Given the description of an element on the screen output the (x, y) to click on. 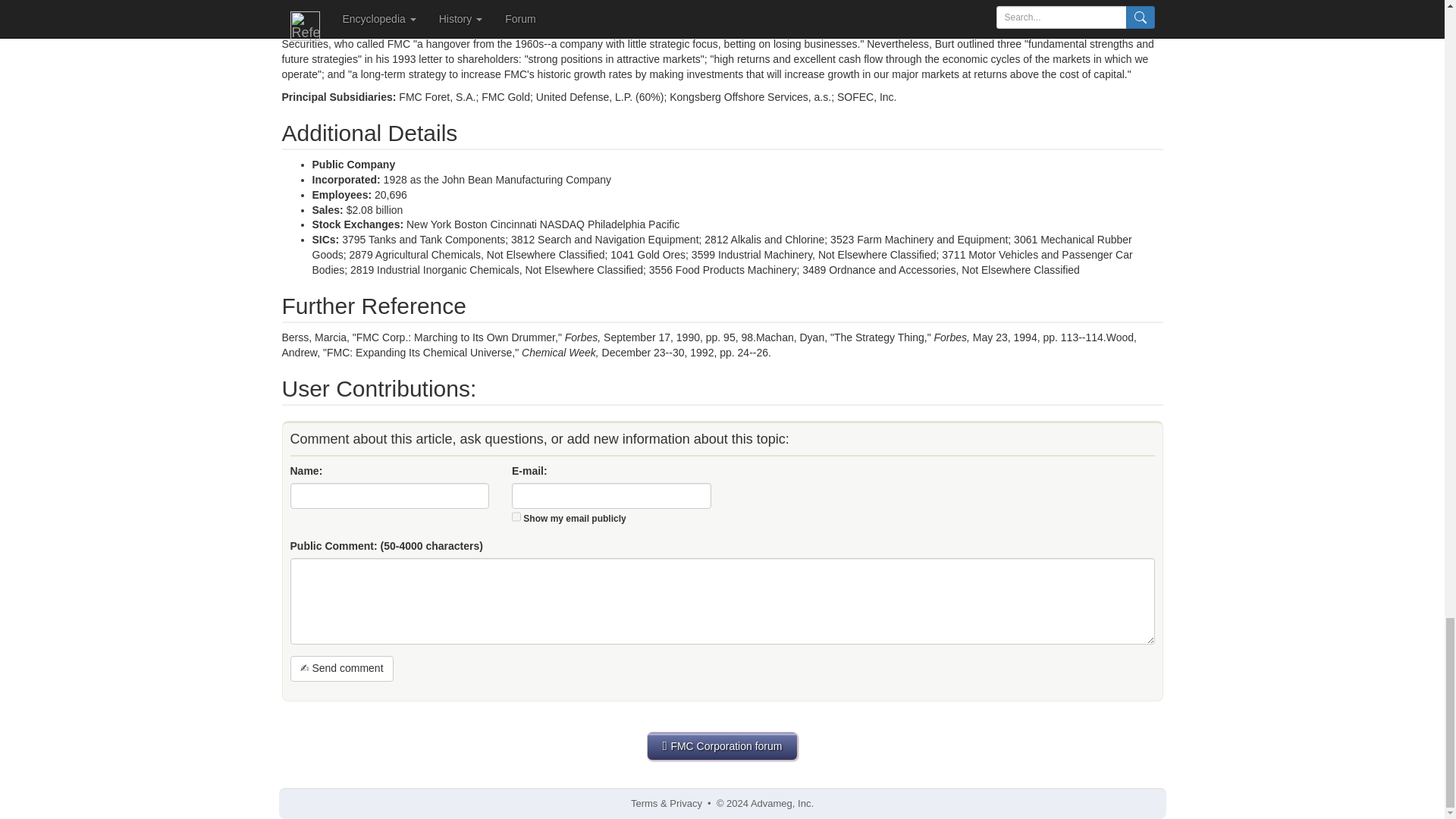
FMC Corporation forum (721, 746)
1 (516, 516)
